Given the description of an element on the screen output the (x, y) to click on. 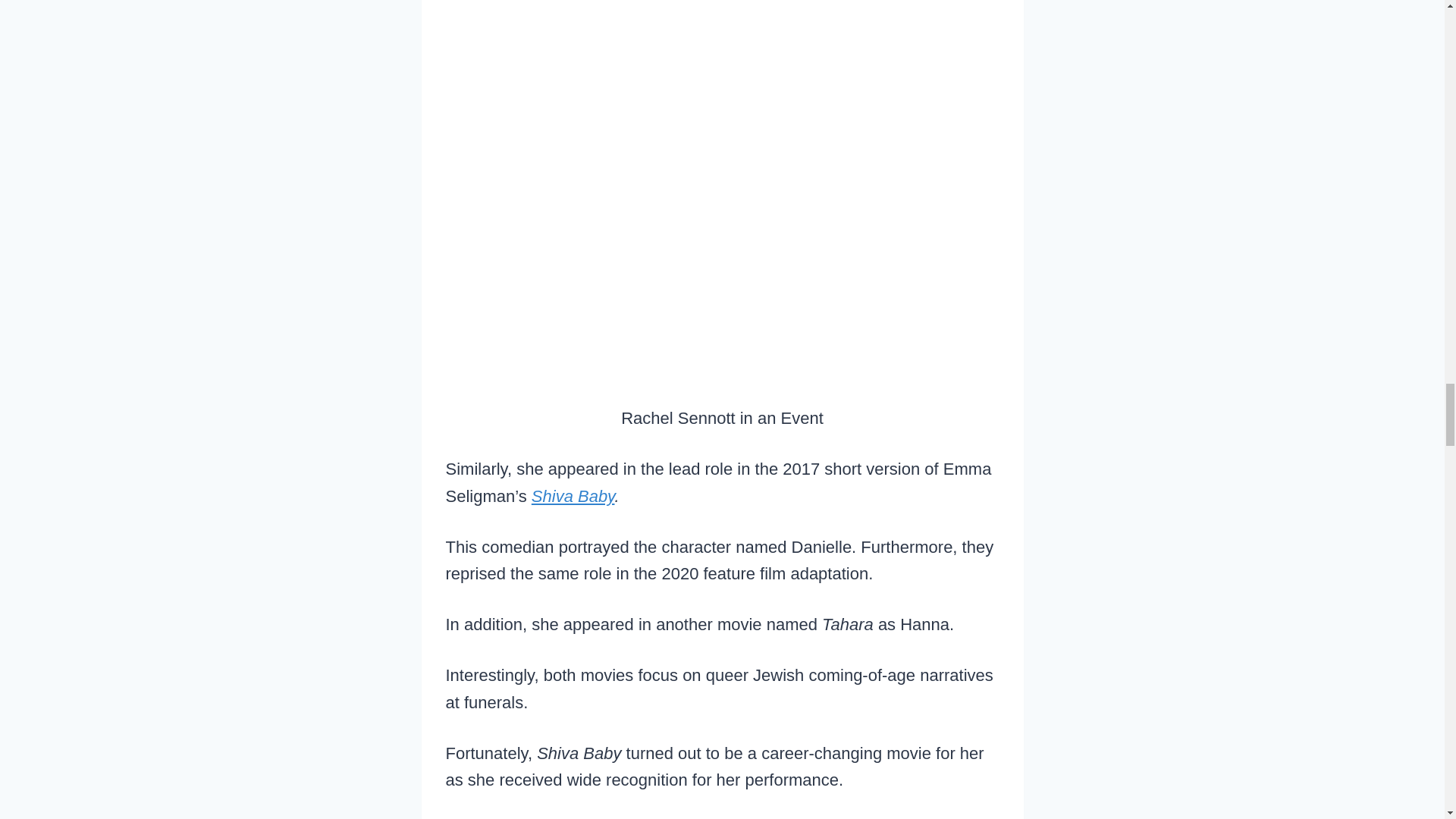
Shiva Baby (572, 496)
